Given the description of an element on the screen output the (x, y) to click on. 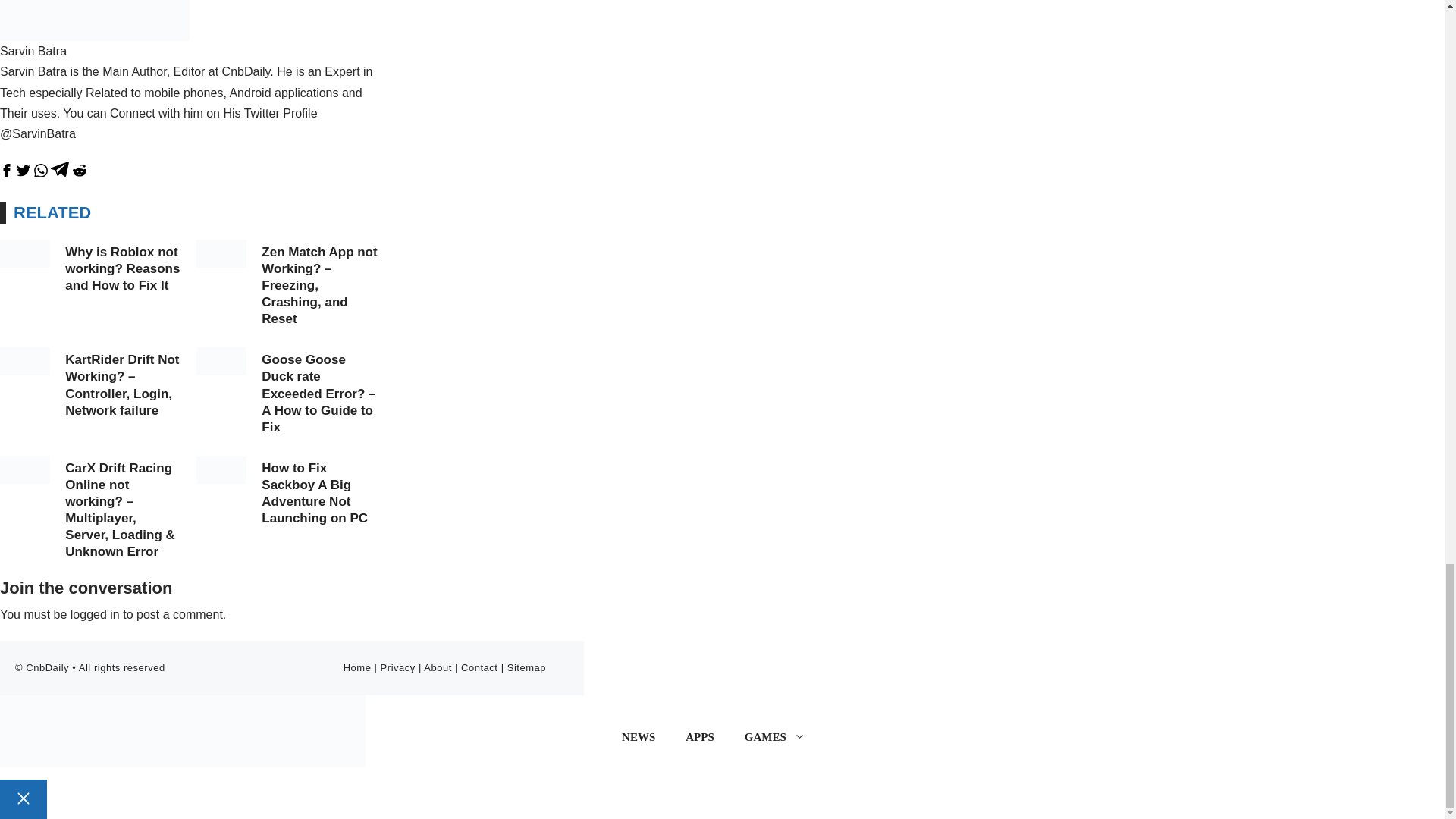
Why is Roblox not working? Reasons and How to Fix It (122, 268)
